Given the description of an element on the screen output the (x, y) to click on. 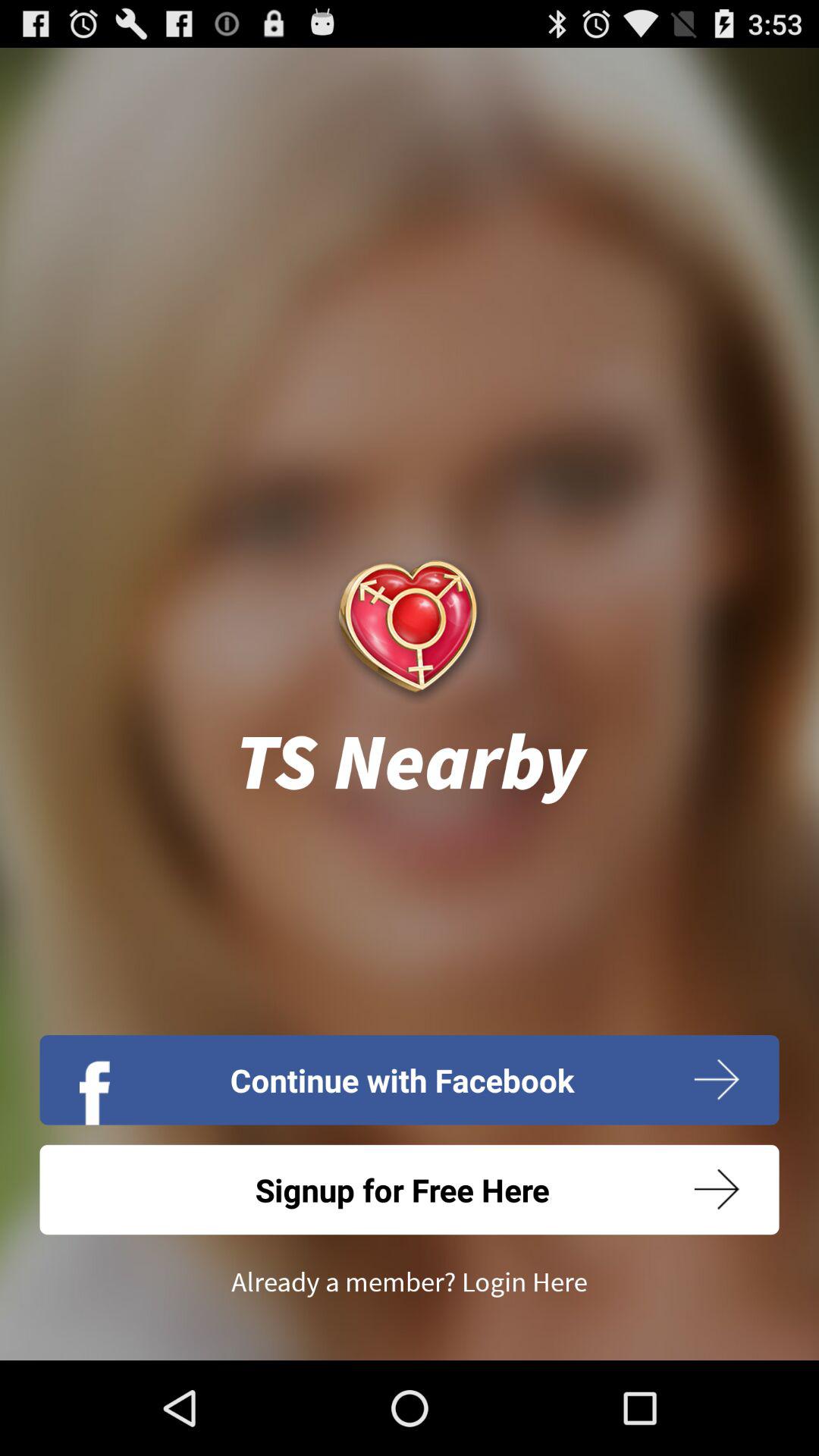
turn off the app above the already a member icon (409, 1189)
